Given the description of an element on the screen output the (x, y) to click on. 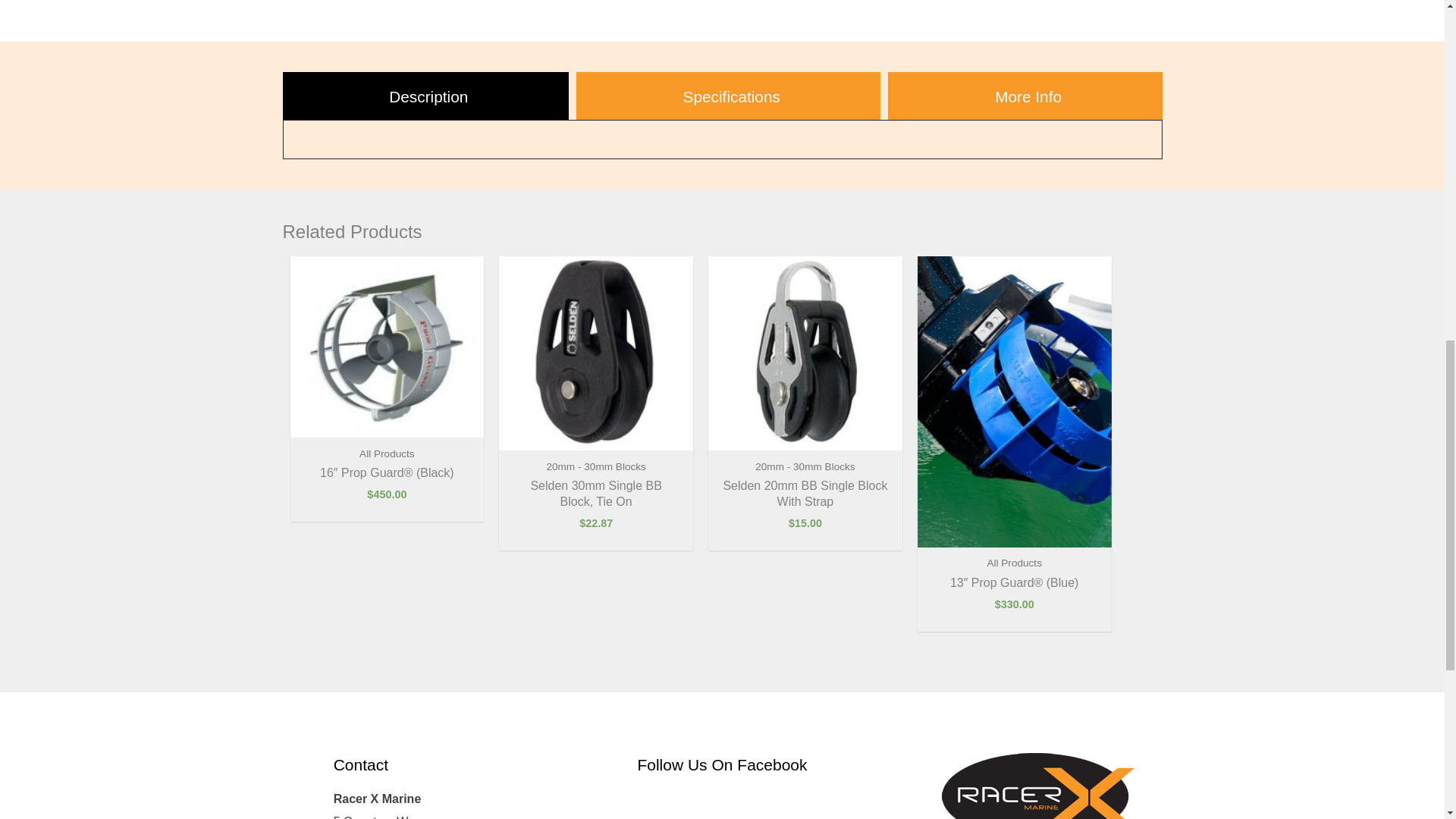
Description (424, 95)
Selden 30mm Single BB Block, Tie On (595, 494)
Selden 20mm BB Single Block With Strap (804, 494)
Specifications (728, 95)
More Info (1024, 95)
